Given the description of an element on the screen output the (x, y) to click on. 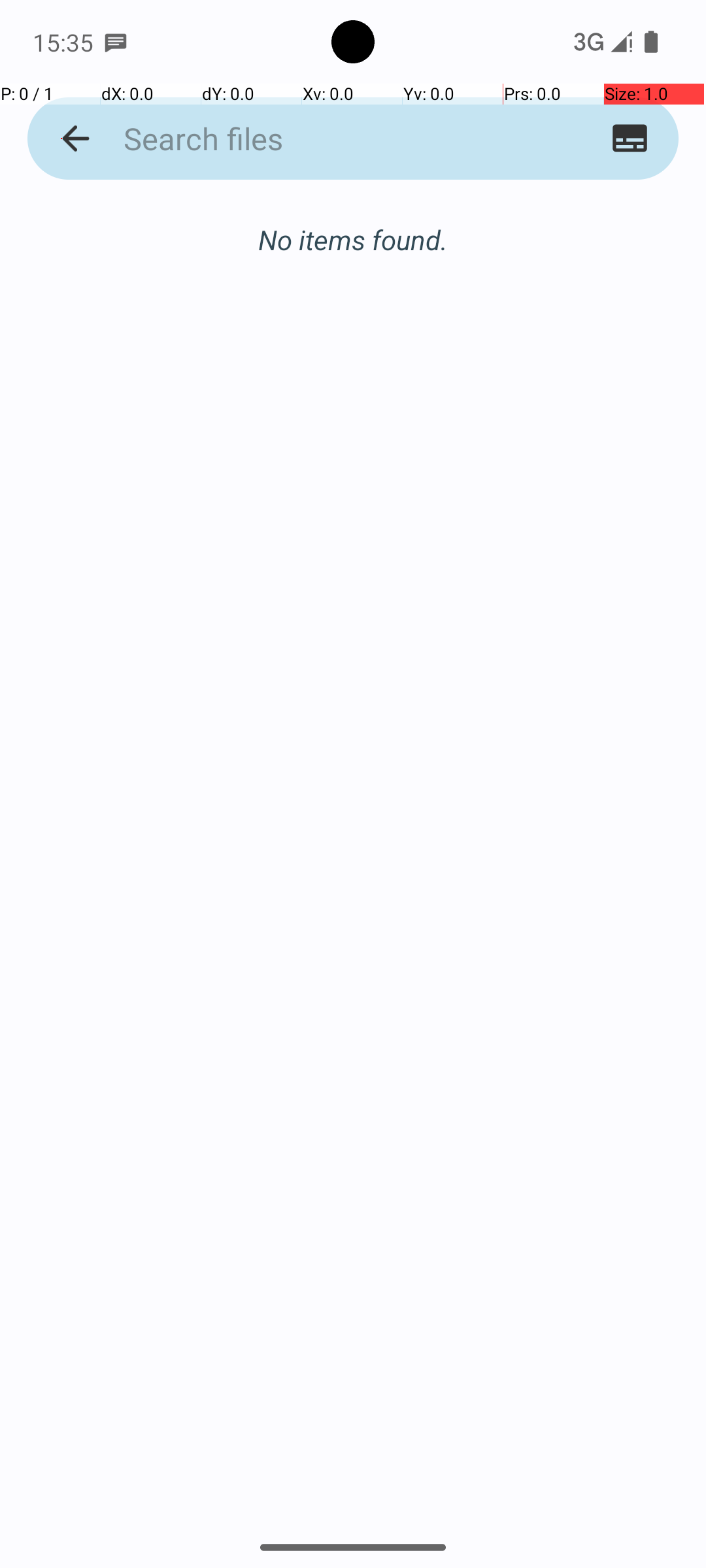
No items found. Element type: android.widget.TextView (353, 225)
Search files Element type: android.widget.EditText (328, 138)
Toggle filename visibility Element type: android.widget.Button (629, 138)
